Given the description of an element on the screen output the (x, y) to click on. 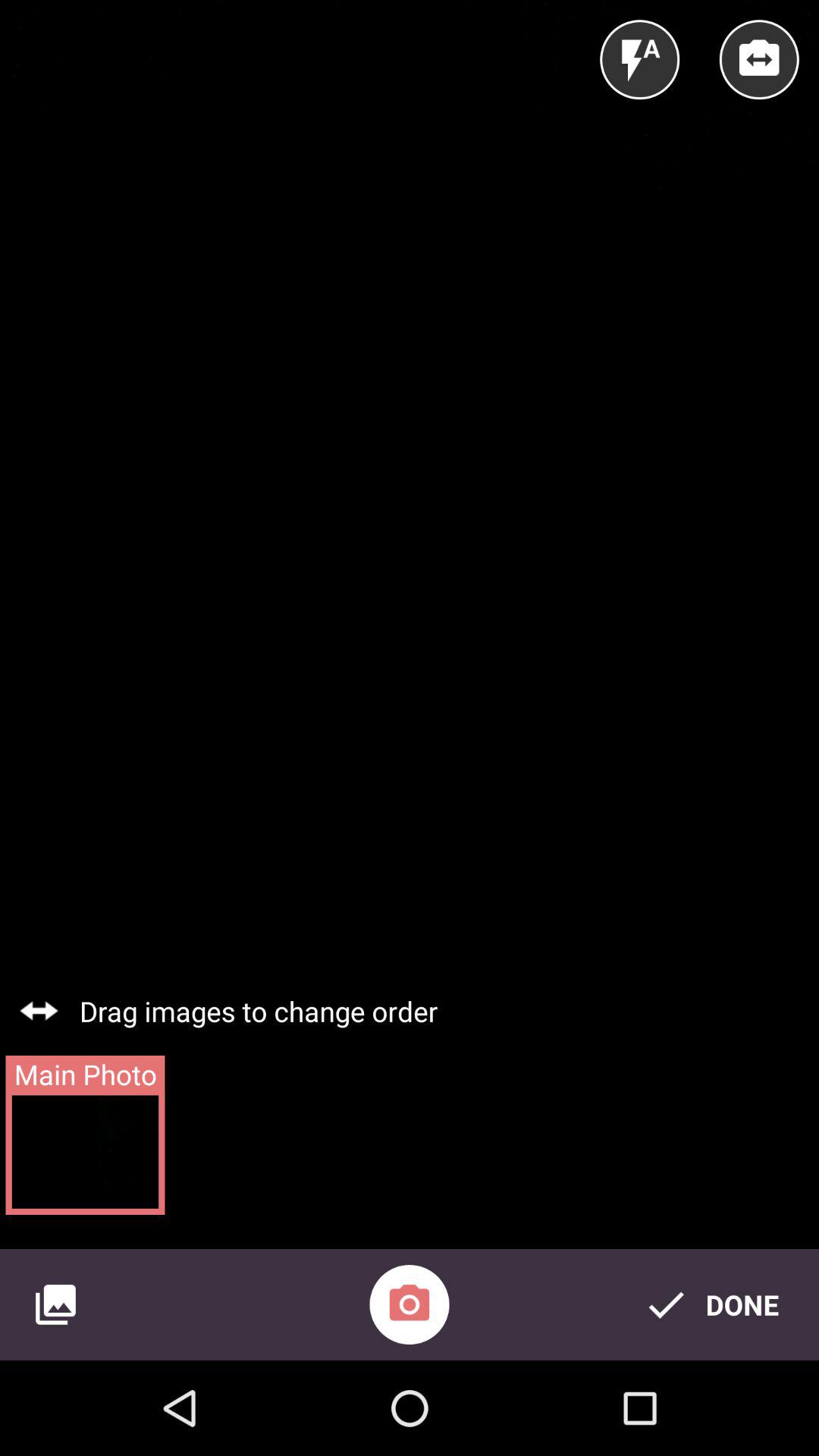
select the icon above the drag images to icon (759, 59)
